Given the description of an element on the screen output the (x, y) to click on. 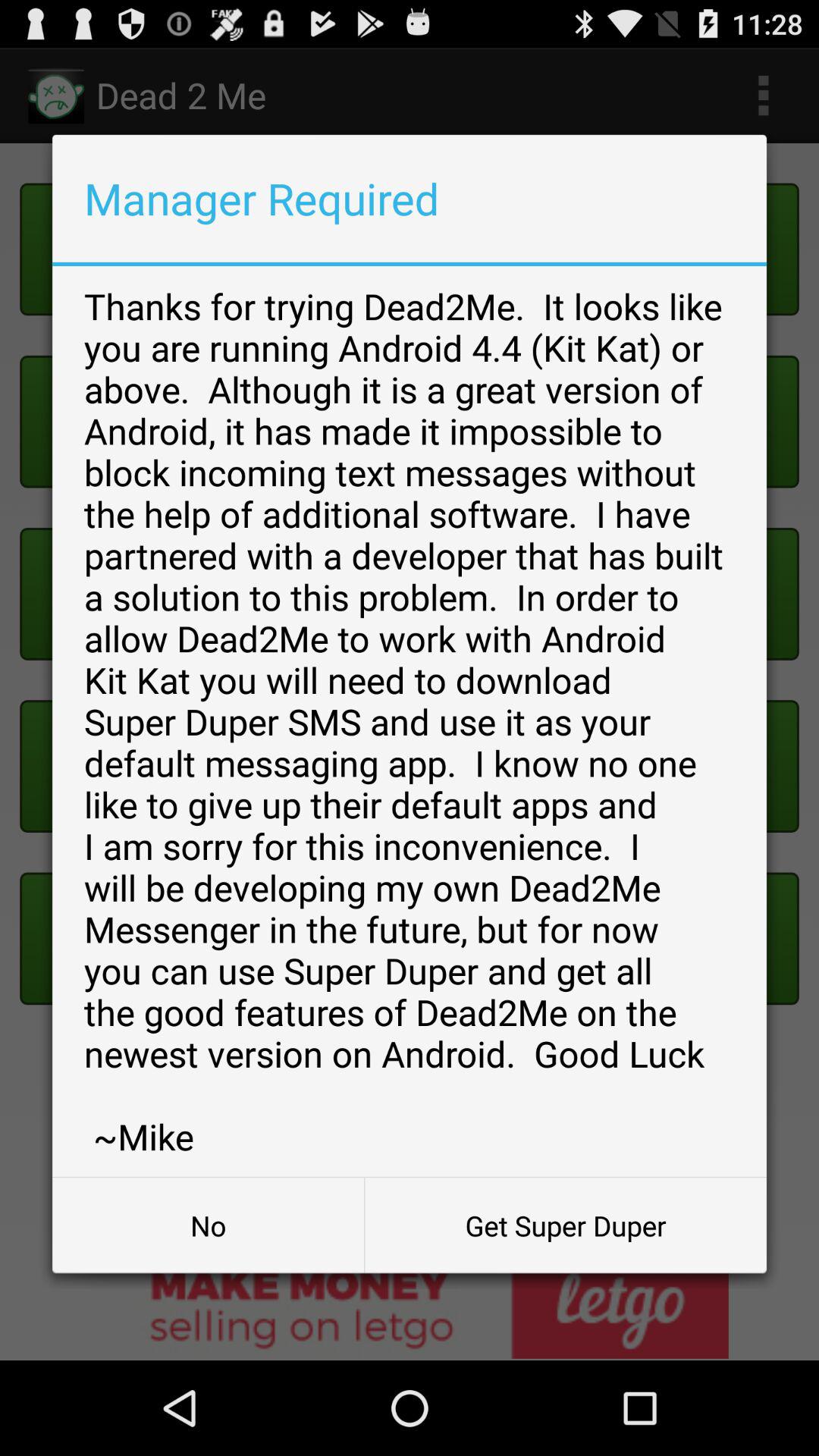
click icon to the left of the get super duper (208, 1225)
